Given the description of an element on the screen output the (x, y) to click on. 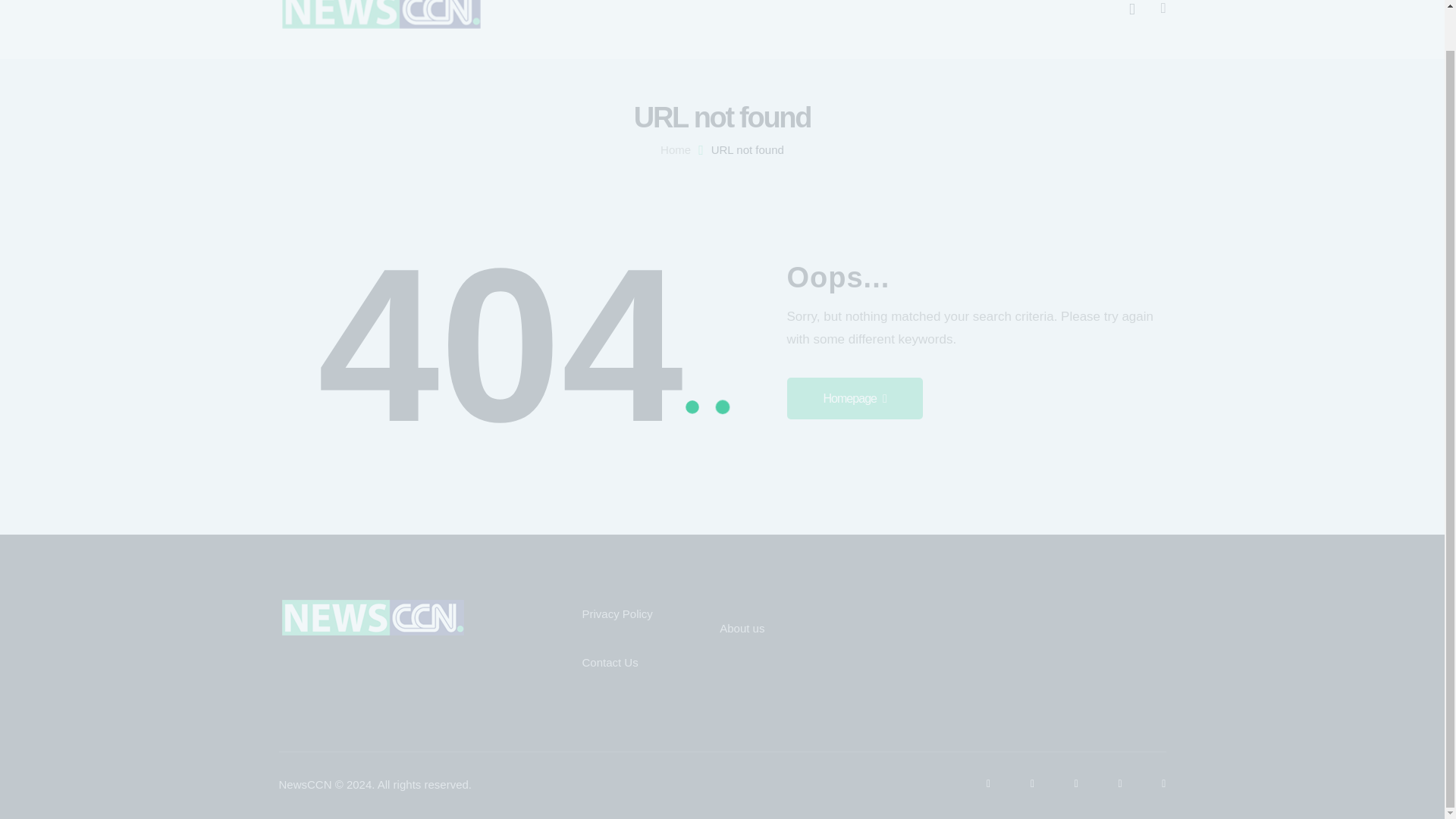
Home (675, 150)
